Given the description of an element on the screen output the (x, y) to click on. 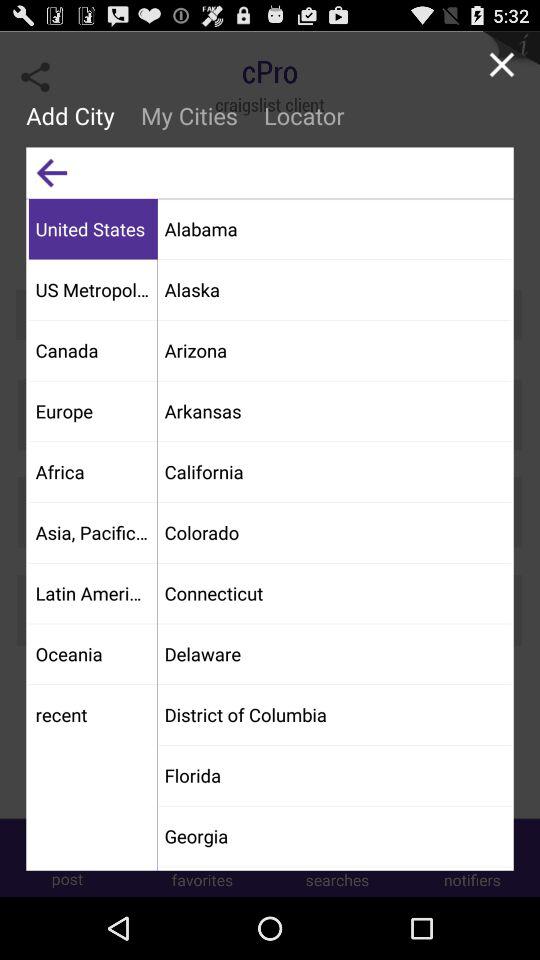
turn on the colorado (334, 532)
